Given the description of an element on the screen output the (x, y) to click on. 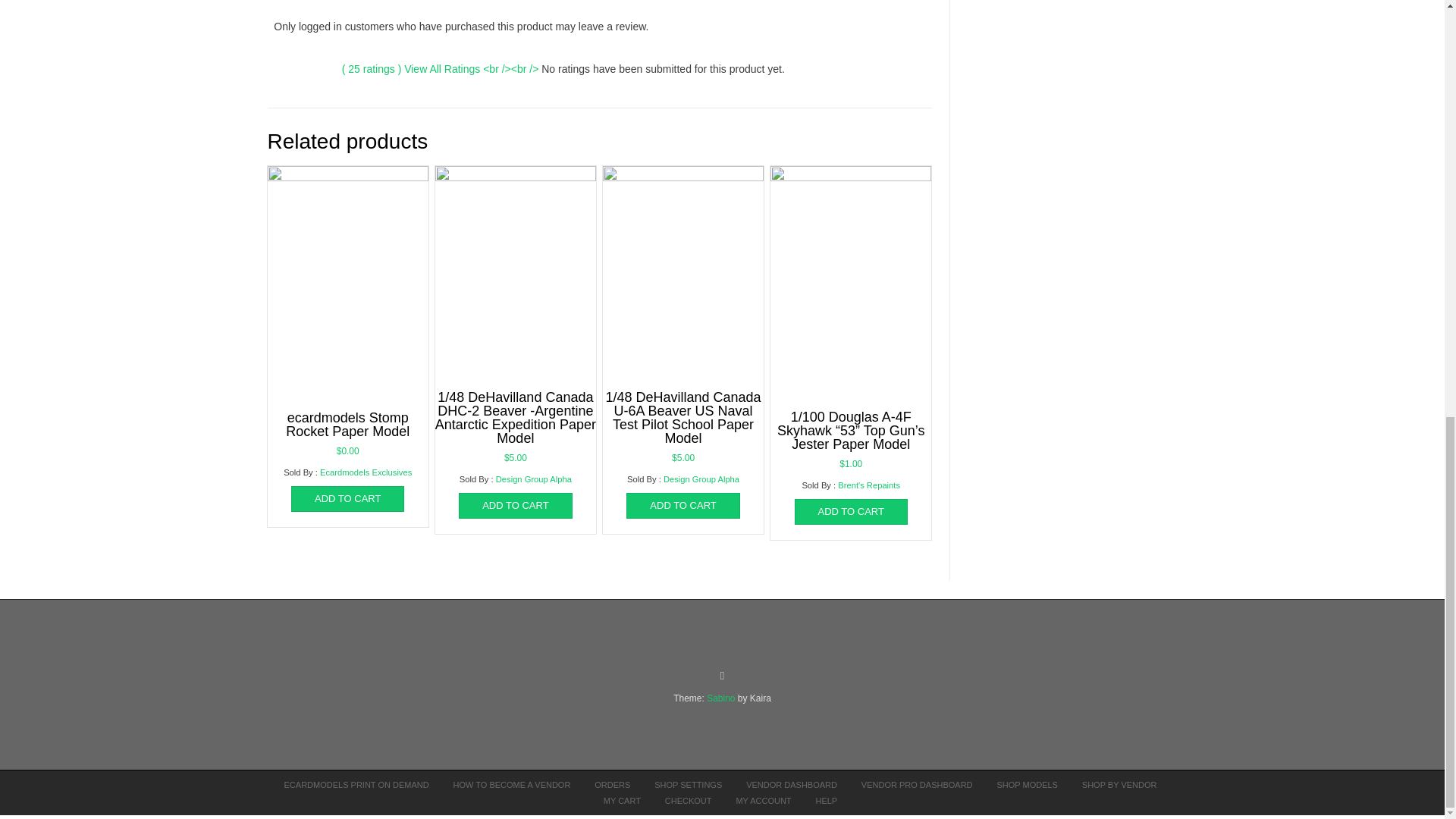
Design Group Alpha (534, 479)
Ecardmodels Exclusives (366, 471)
ADD TO CART (682, 505)
ADD TO CART (515, 505)
Design Group Alpha (701, 479)
ADD TO CART (347, 498)
